Given the description of an element on the screen output the (x, y) to click on. 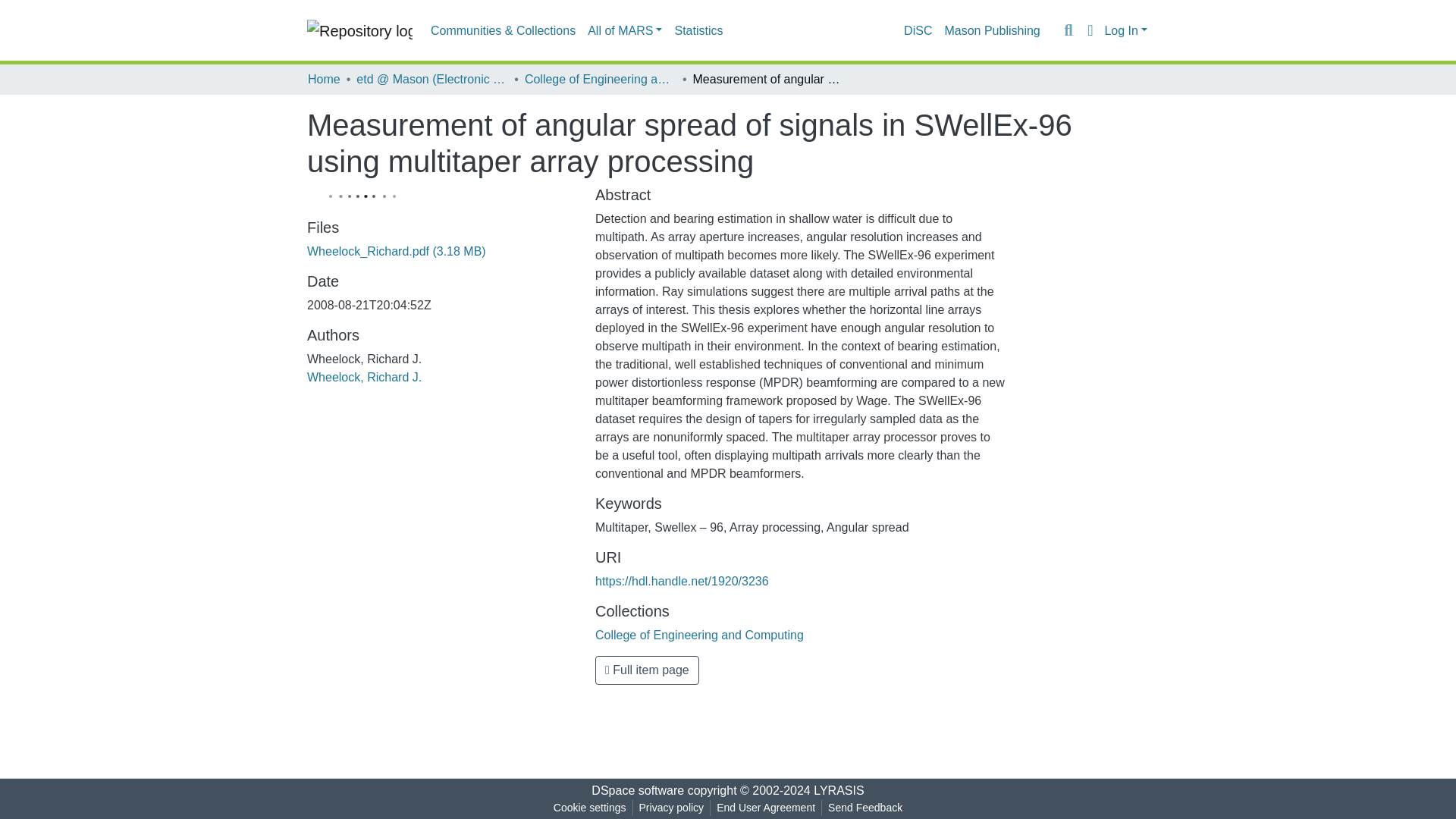
Cookie settings (589, 807)
LYRASIS (838, 789)
Log In (1125, 30)
Mason Publishing (991, 30)
DSpace software (637, 789)
Home (323, 79)
Language switch (1089, 30)
Privacy policy (671, 807)
Statistics (698, 30)
College of Engineering and Computing (699, 634)
DiSC (917, 30)
All of MARS (624, 30)
Full item page (646, 670)
Send Feedback (865, 807)
Wheelock, Richard J. (364, 377)
